Given the description of an element on the screen output the (x, y) to click on. 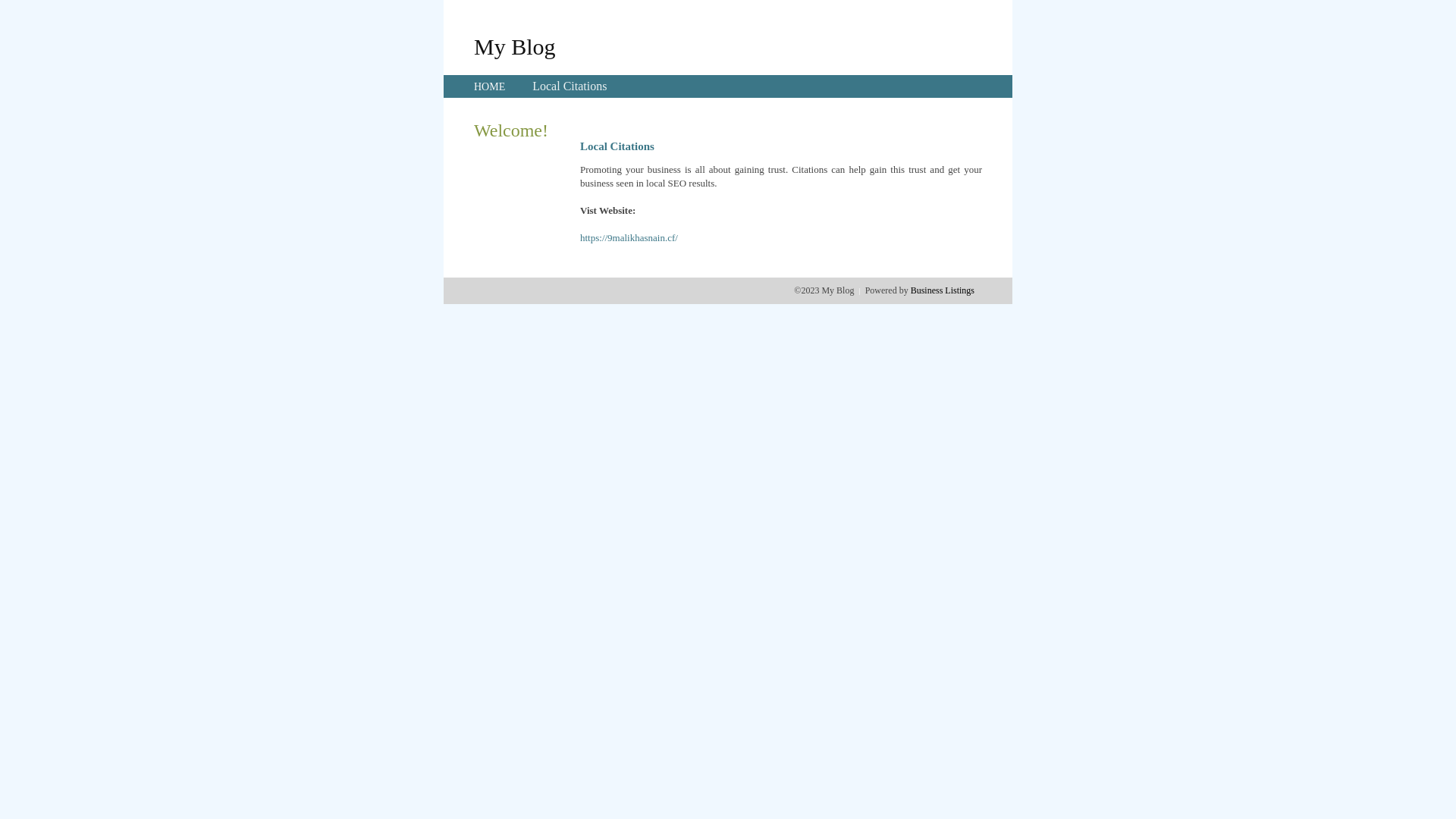
Local Citations Element type: text (569, 85)
HOME Element type: text (489, 86)
https://9malikhasnain.cf/ Element type: text (628, 237)
My Blog Element type: text (514, 46)
Business Listings Element type: text (942, 290)
